Given the description of an element on the screen output the (x, y) to click on. 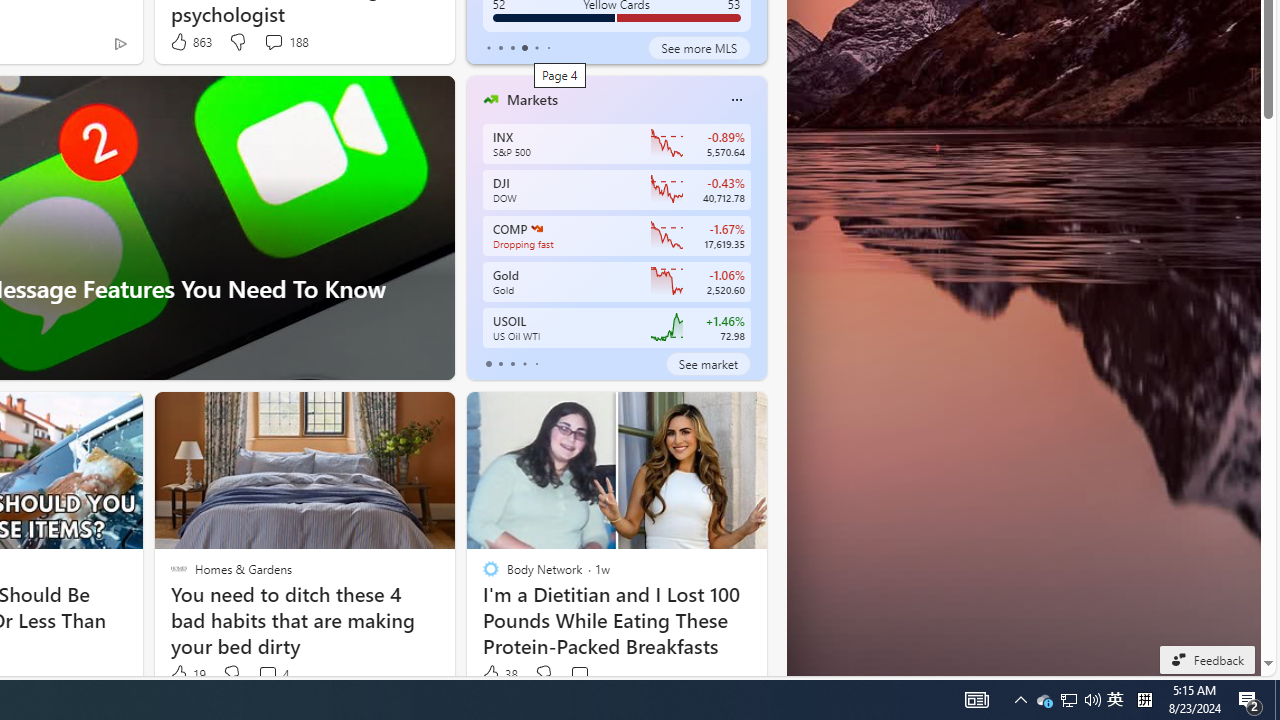
View comments 188 Comment (273, 41)
tab-4 (535, 363)
Class: icon-img (736, 100)
tab-2 (511, 363)
See more MLS (699, 47)
tab-5 (548, 47)
38 Like (499, 674)
Markets (531, 99)
